Given the description of an element on the screen output the (x, y) to click on. 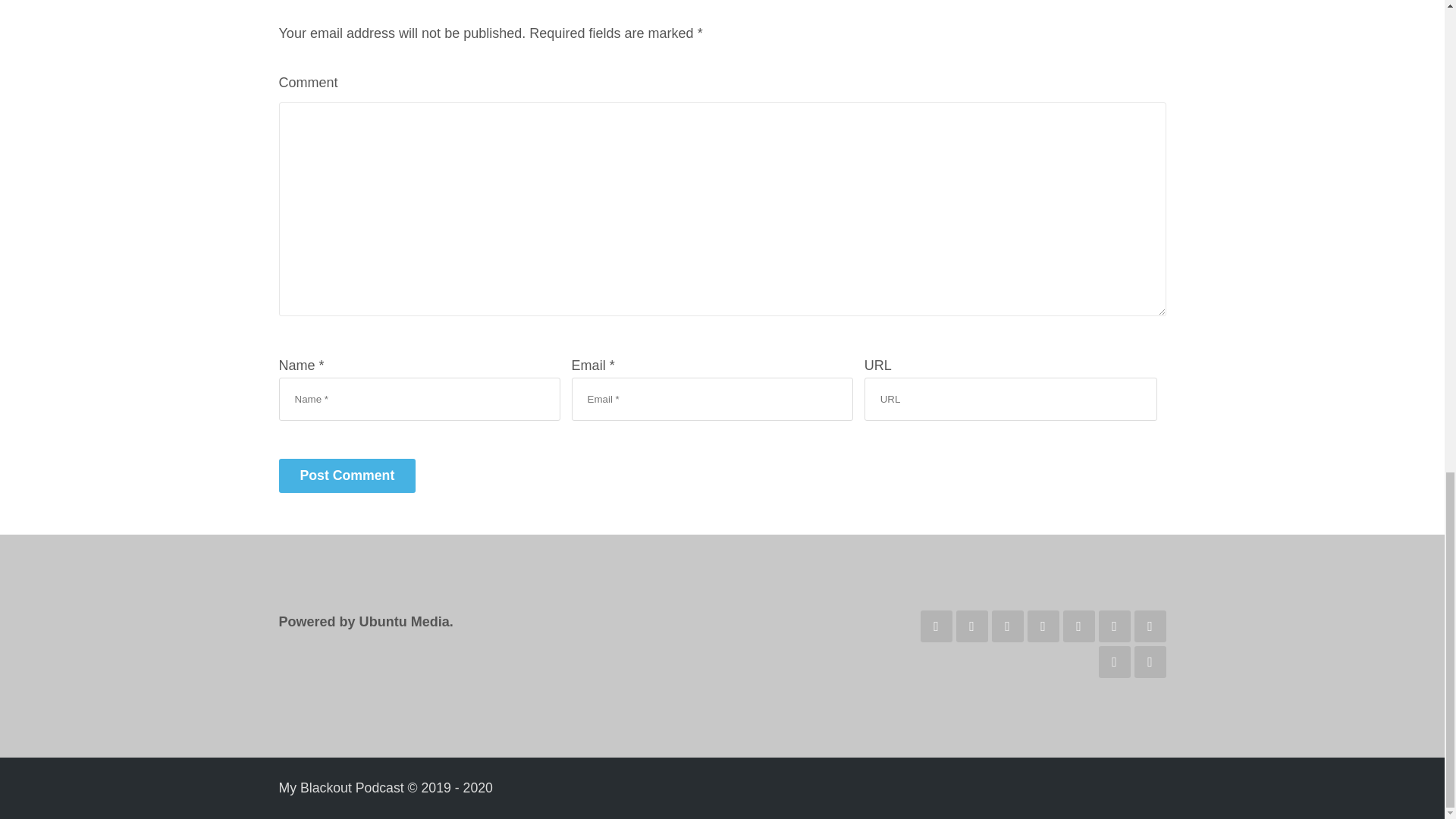
Post Comment (347, 475)
Powered by Ubuntu Media. (365, 621)
Post Comment (347, 475)
